Given the description of an element on the screen output the (x, y) to click on. 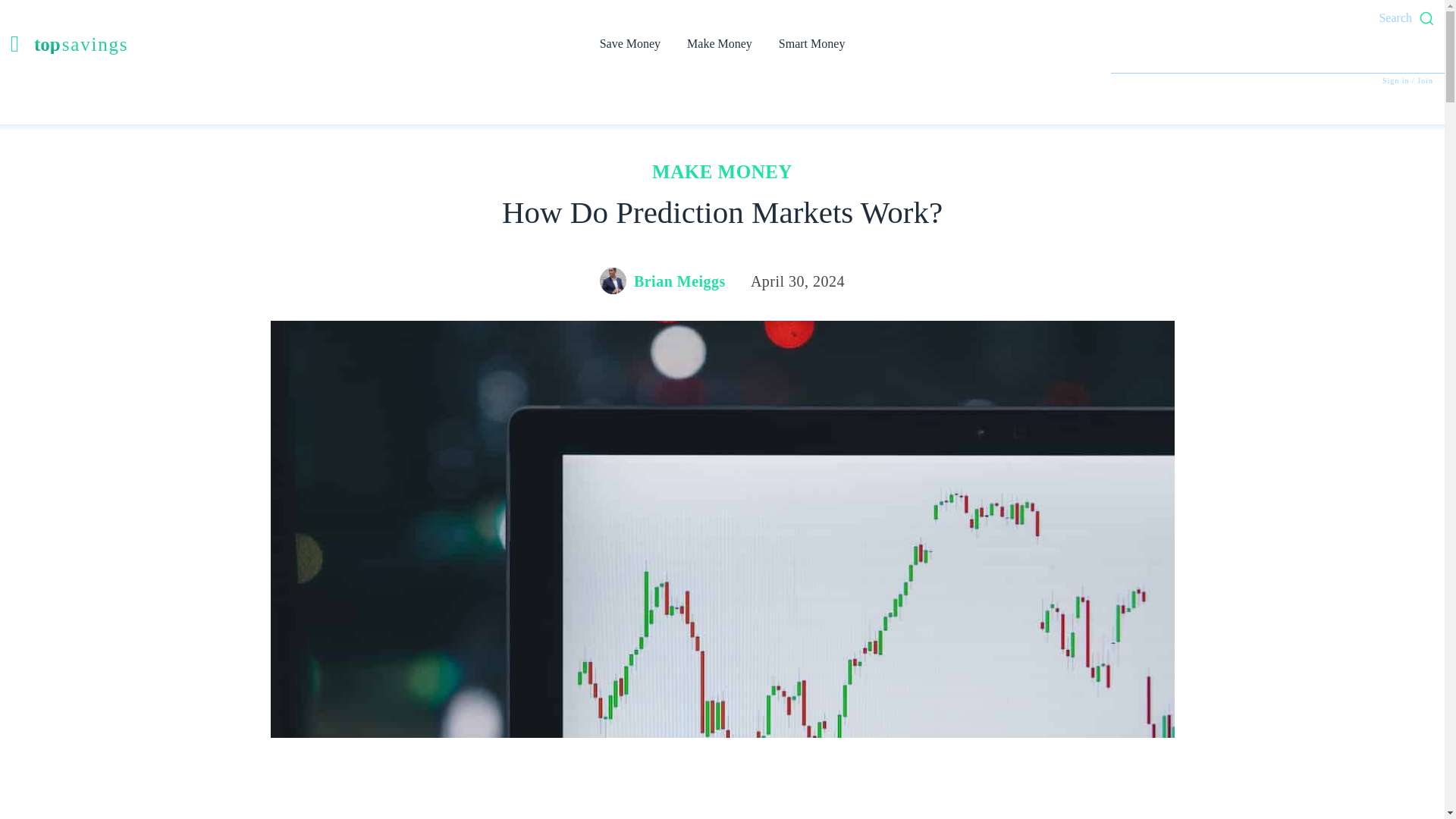
Brian Meiggs (679, 281)
Brian Meiggs (614, 280)
Smart Money (812, 43)
MAKE MONEY (721, 175)
Save Money (166, 43)
Make Money (629, 43)
